Given the description of an element on the screen output the (x, y) to click on. 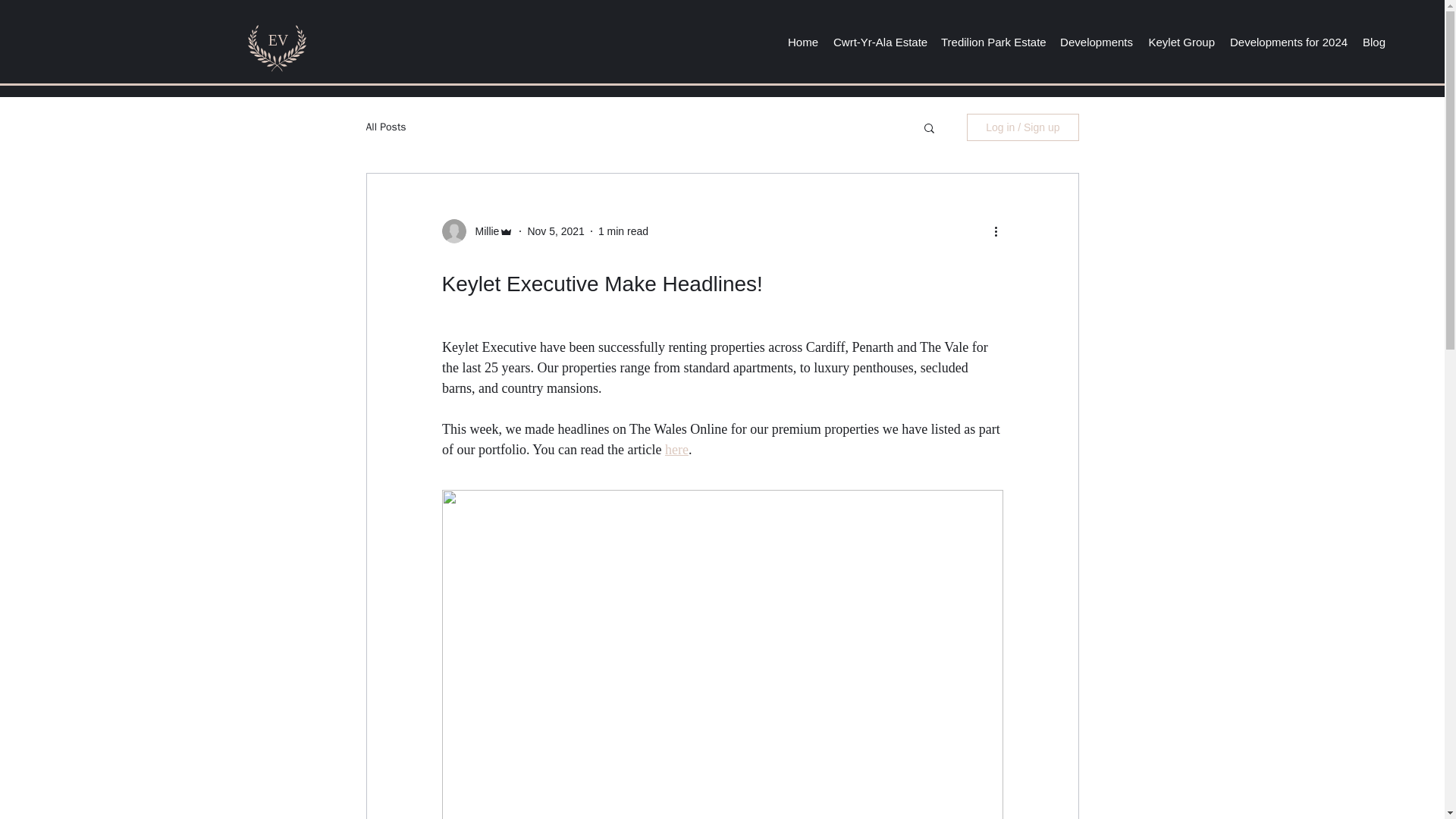
here (675, 449)
Keylet Group (1181, 42)
Nov 5, 2021 (556, 230)
Developments for 2024 (1288, 42)
Developments (1096, 42)
Cwrt-Yr-Ala Estate (879, 42)
Home (801, 42)
1 min read (622, 230)
Blog (1373, 42)
All Posts (385, 127)
Millie (482, 230)
Tredilion Park Estate (992, 42)
